Given the description of an element on the screen output the (x, y) to click on. 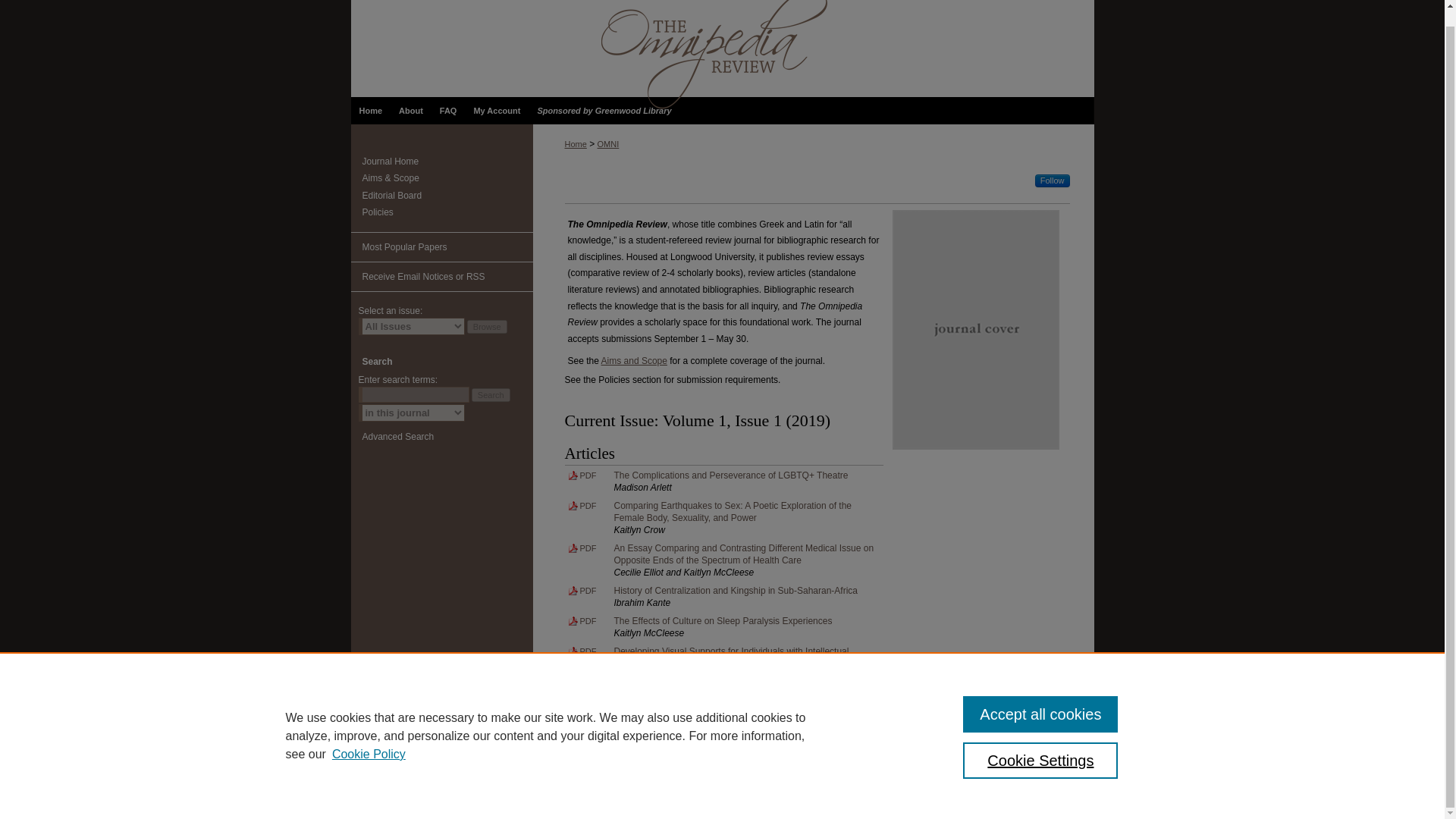
About (410, 110)
Search (491, 395)
Browse (486, 326)
FAQ (447, 110)
Editorial Board (447, 195)
Follow The Omnipedia Review (1052, 180)
PDF (582, 618)
My Account (496, 110)
Home (370, 110)
Search (491, 395)
Advanced Search (397, 436)
My Account (496, 110)
PDF (582, 588)
PDF (582, 503)
About (410, 110)
